Given the description of an element on the screen output the (x, y) to click on. 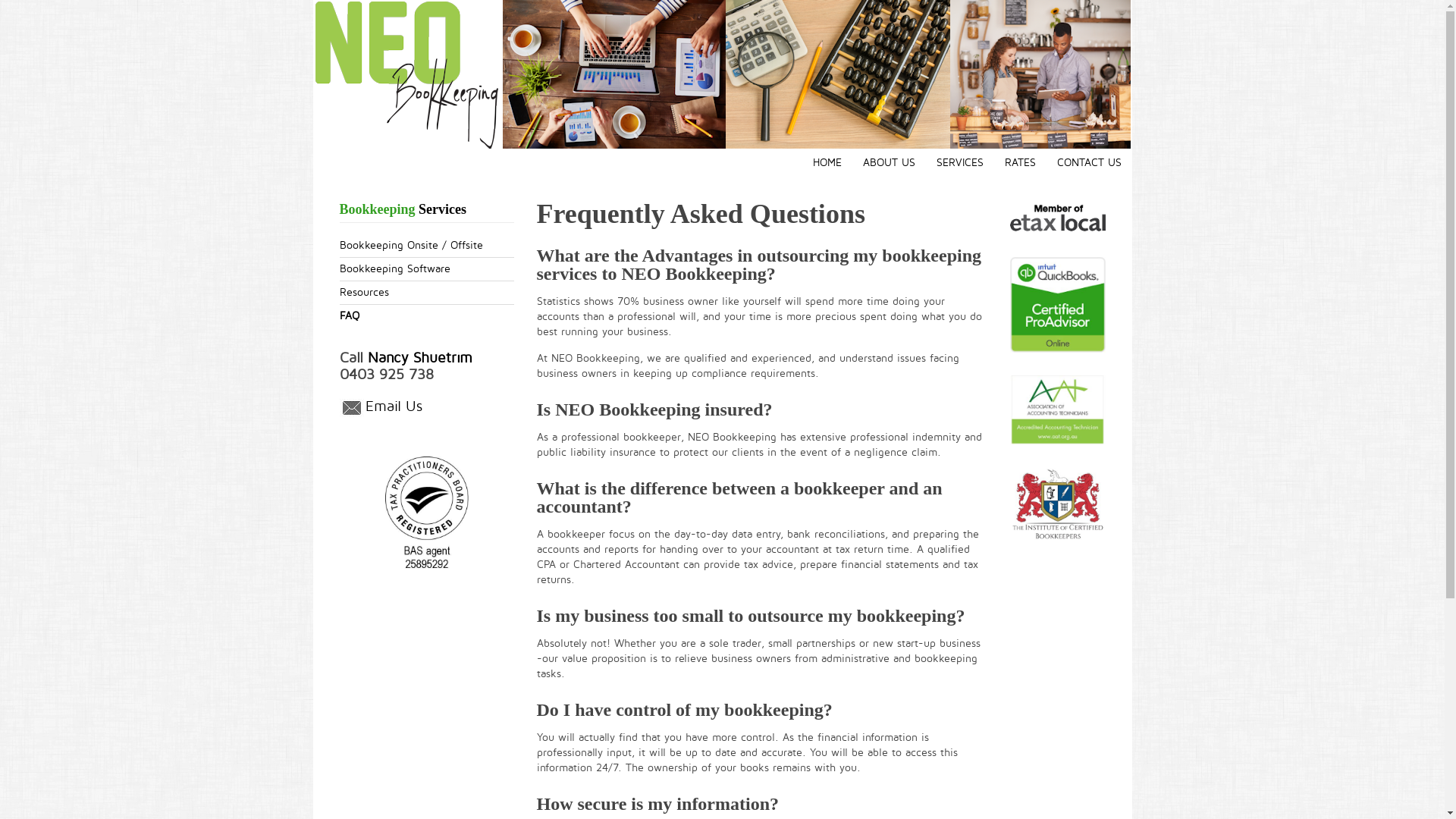
Resources Element type: text (426, 292)
CONTACT US Element type: text (1089, 162)
ABOUT US Element type: text (888, 162)
Email Us Element type: text (393, 407)
  Element type: text (720, 74)
Email Us Element type: hover (352, 408)
Intuit QuickBooks Certified Proadvisor Element type: hover (1057, 304)
RATES Element type: text (1019, 162)
NEO Bookkeeping Element type: hover (407, 74)
Nancy Shuetrim Element type: text (419, 357)
Member of etax local Element type: hover (1057, 215)
Bookkeeping Onsite / Offsite Element type: text (426, 245)
FAQ Element type: text (426, 315)
HOME Element type: text (827, 162)
Bookkeeping Software Element type: text (426, 268)
SERVICES Element type: text (959, 162)
